Given the description of an element on the screen output the (x, y) to click on. 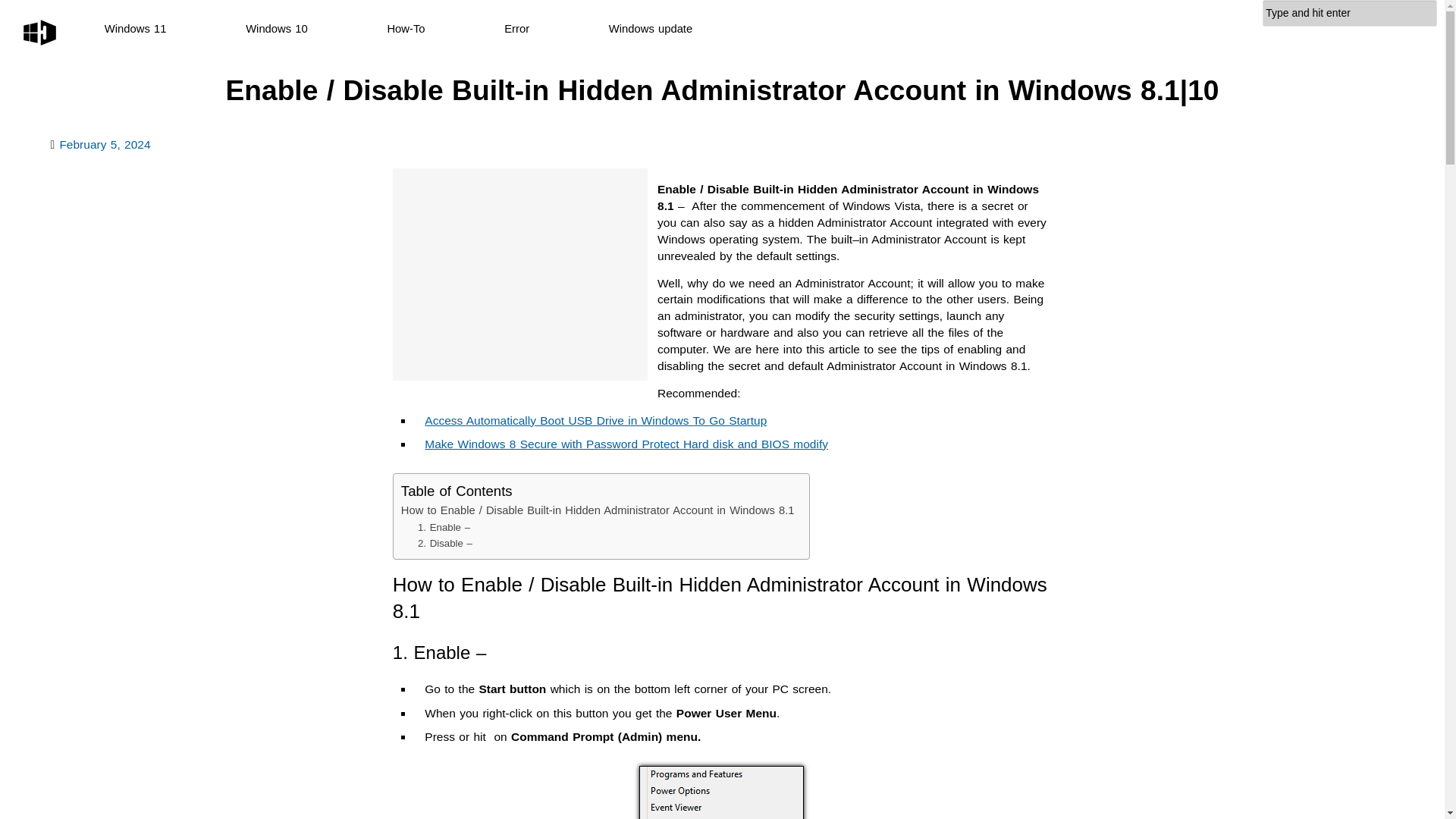
Access Automatically Boot USB Drive in Windows To Go Startup (596, 420)
Windows 10 (276, 28)
Type and hit enter (1349, 13)
Windows 11 (136, 28)
command prompt on power user menu (721, 792)
How-To (406, 28)
Advertisement (520, 274)
Error (516, 28)
